Given the description of an element on the screen output the (x, y) to click on. 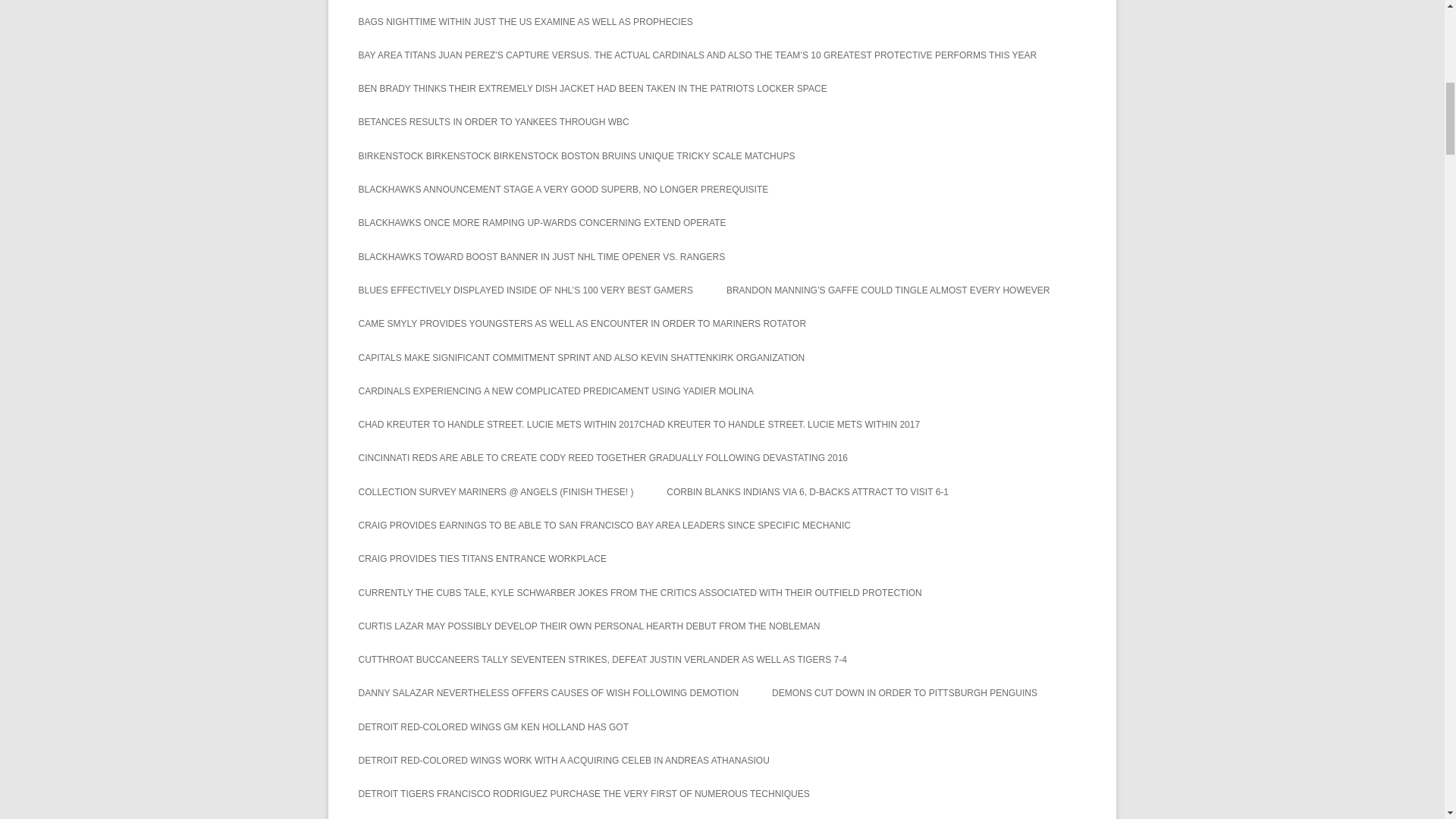
BETANCES RESULTS IN ORDER TO YANKEES THROUGH WBC (493, 121)
